Given the description of an element on the screen output the (x, y) to click on. 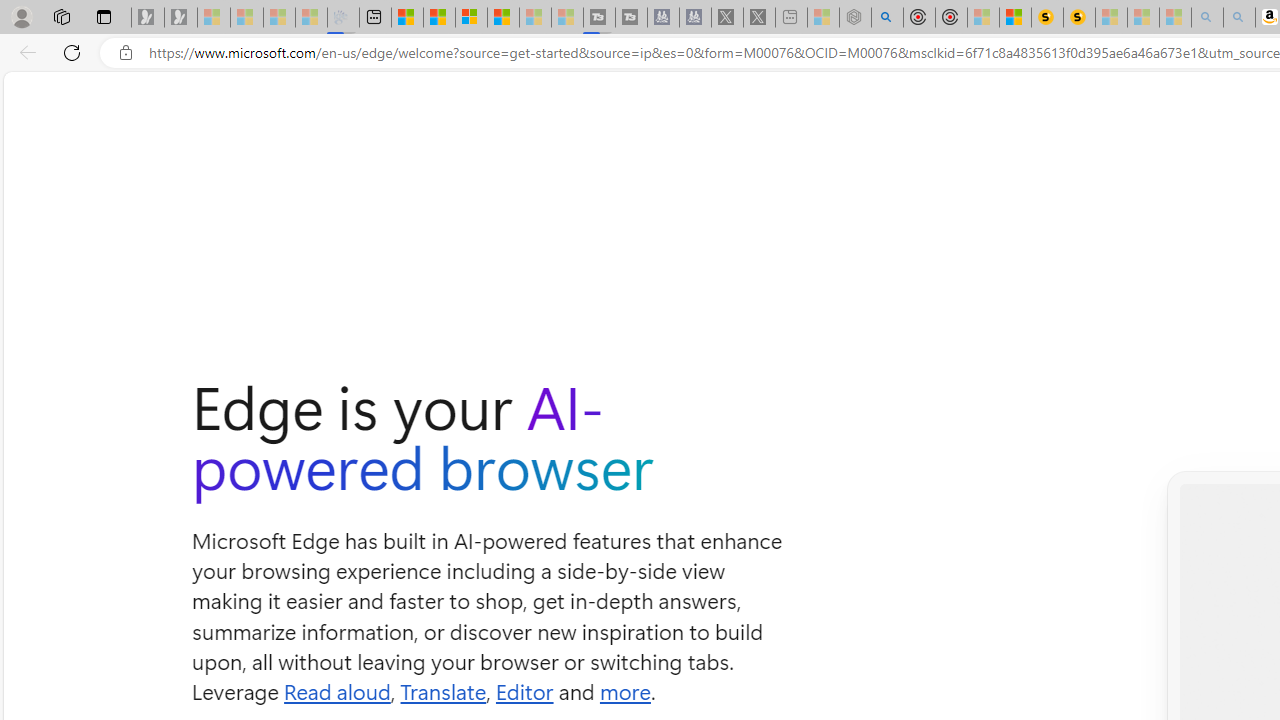
Overview (471, 17)
